Given the description of an element on the screen output the (x, y) to click on. 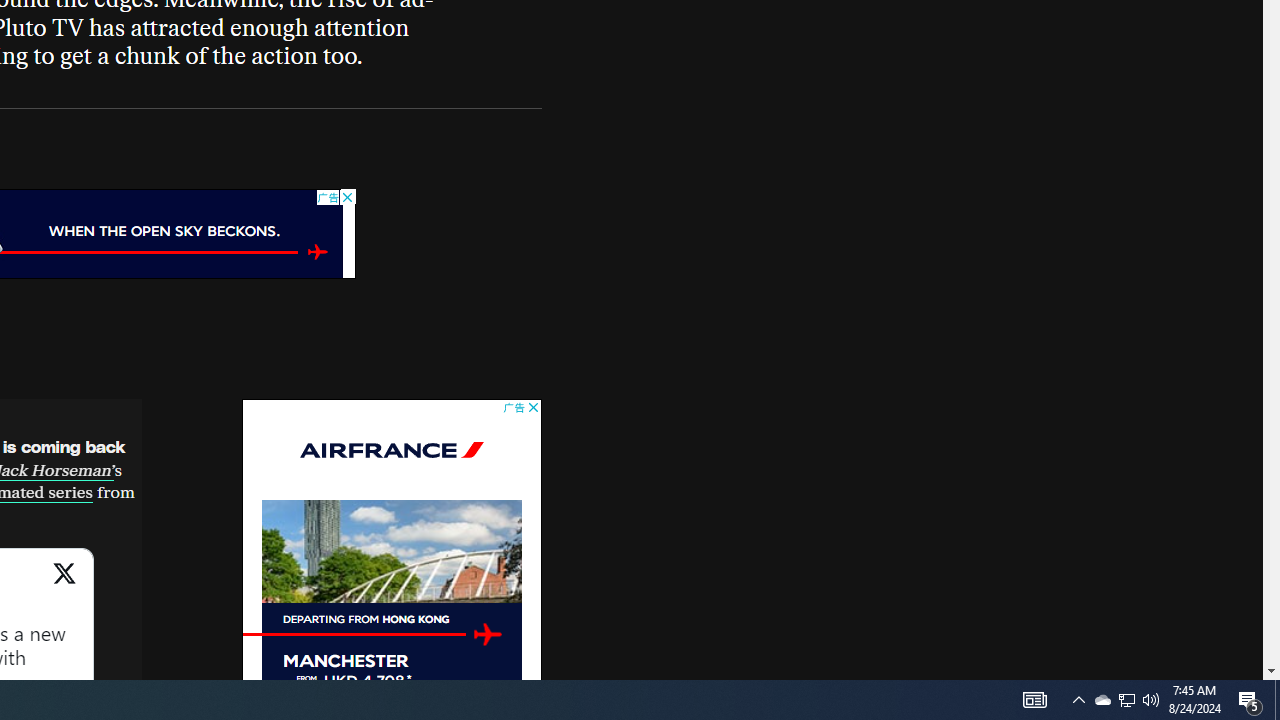
View on X (64, 584)
AutomationID: cbb (532, 408)
To get missing image descriptions, open the context menu. (487, 634)
